Given the description of an element on the screen output the (x, y) to click on. 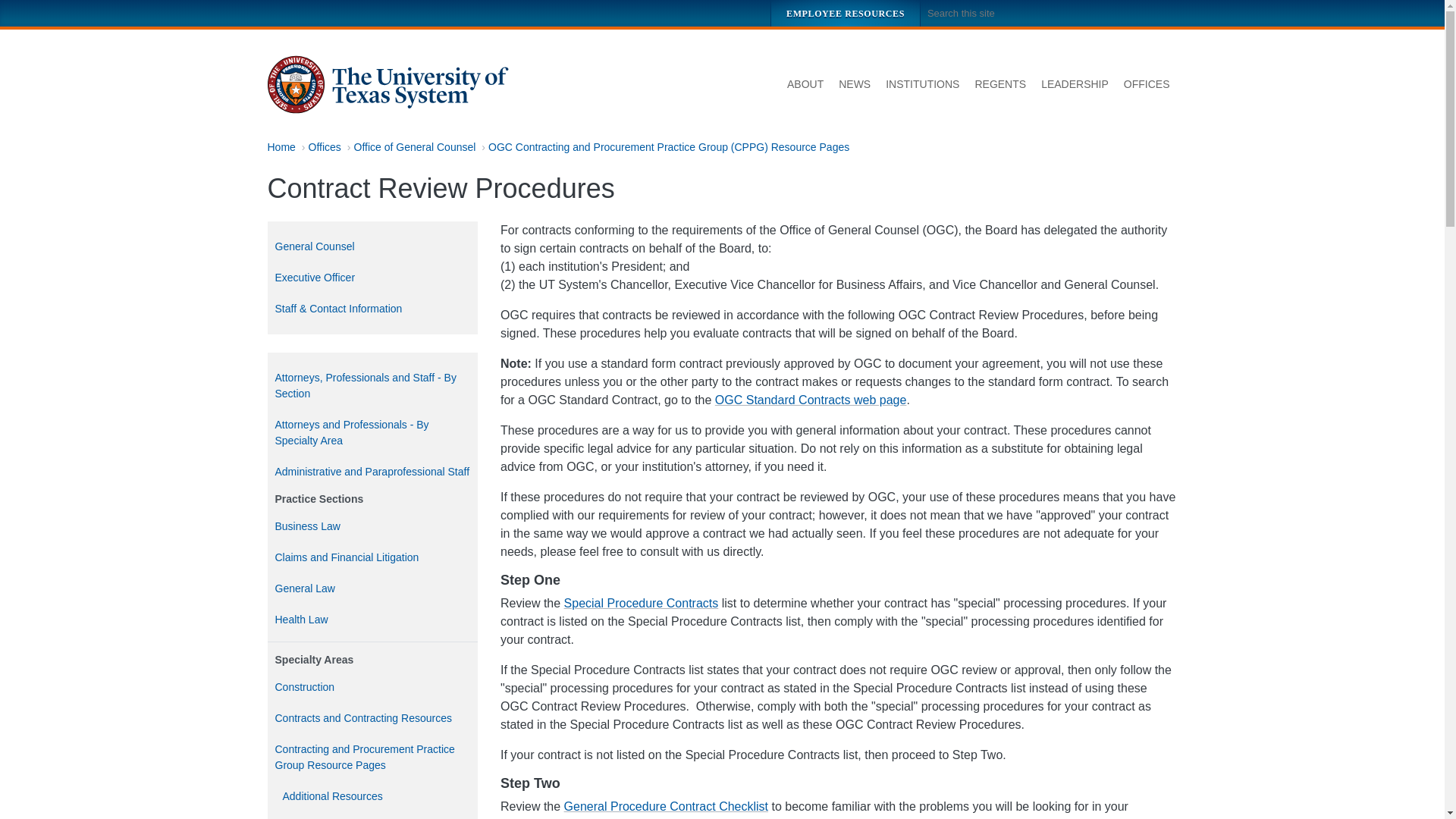
LEADERSHIP (1074, 84)
Breach of Contract - ADR (371, 815)
Contracts and Contracting Resources (371, 717)
OFFICES (1146, 84)
Health Law (371, 619)
The University of Texas System (387, 84)
Claims and Financial Litigation (371, 557)
General Law (371, 588)
Office of General Counsel (414, 146)
General Law (371, 588)
NEWS (854, 84)
ABOUT (804, 84)
General Counsel (371, 246)
Claims and Financial Litigation (371, 557)
Contracting and Procurement Practice Group Resource Pages (371, 757)
